Given the description of an element on the screen output the (x, y) to click on. 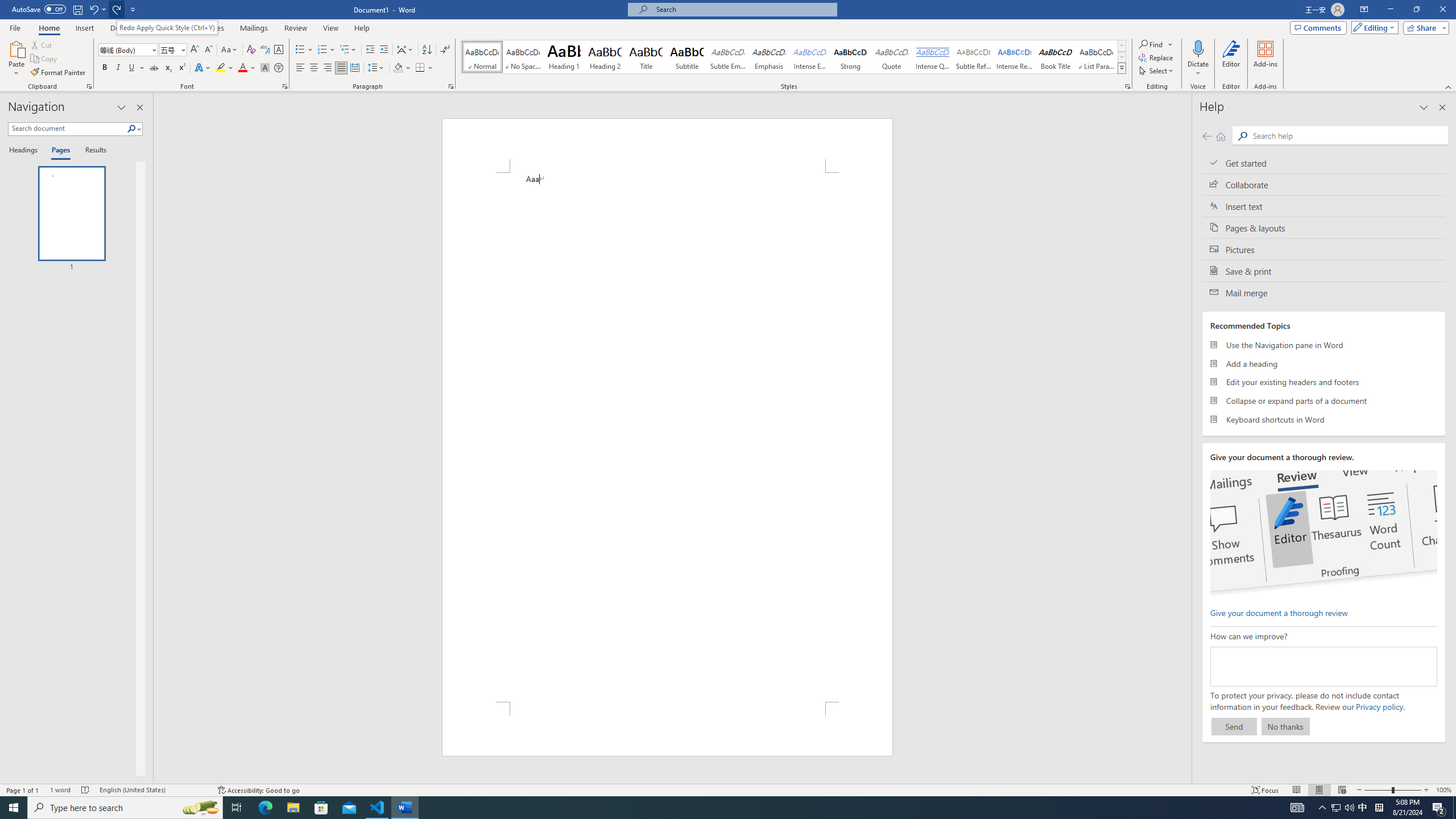
Page Number Page 1 of 1 (22, 790)
Pages & layouts (1323, 228)
Undo Increase Indent (96, 9)
Insert text (1323, 206)
Previous page (1206, 136)
Emphasis (768, 56)
